Given the description of an element on the screen output the (x, y) to click on. 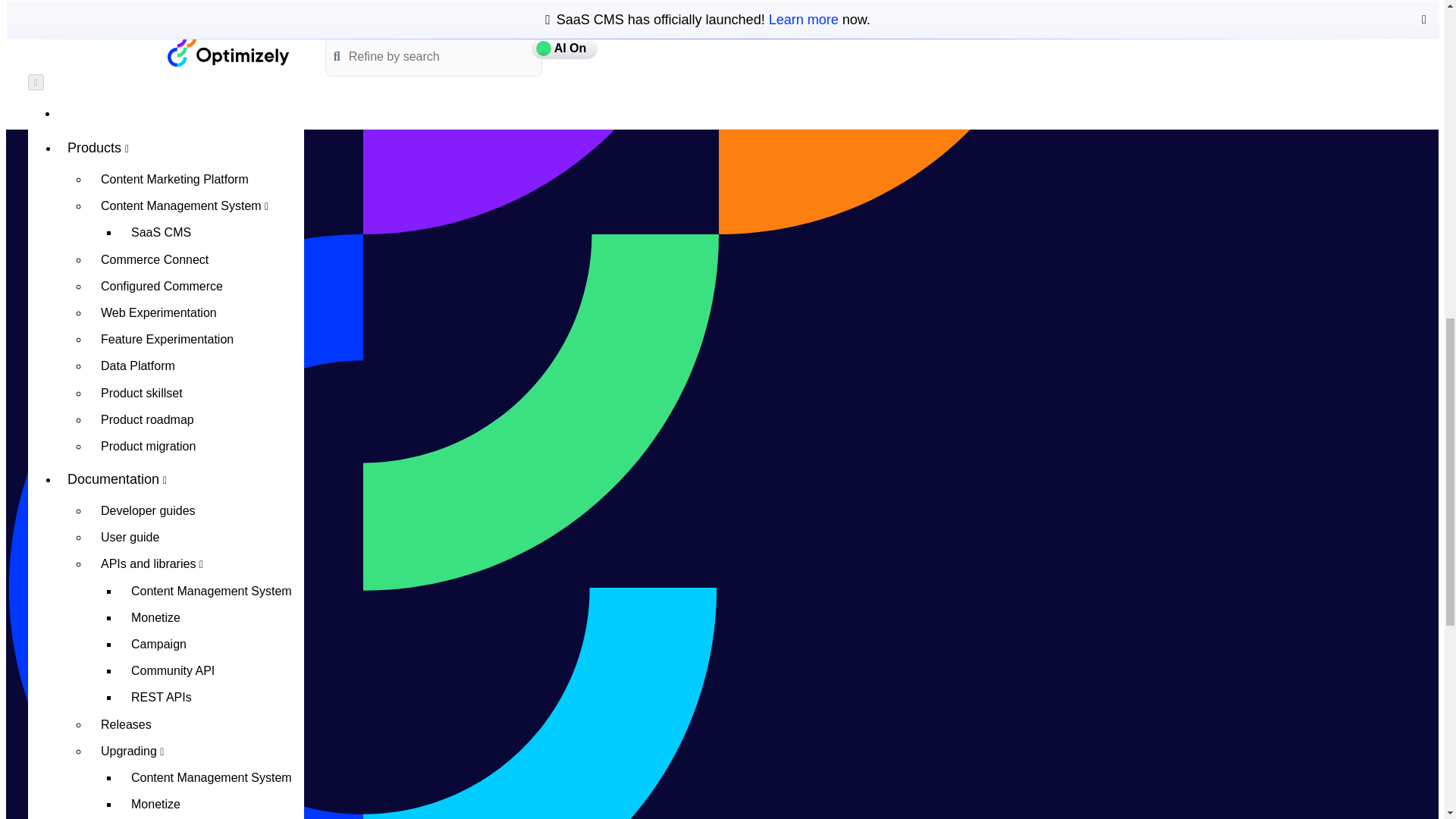
Forms (211, 46)
OMVPs (181, 132)
Service API (211, 99)
OMVP members (196, 243)
Monetize (211, 2)
Digital badges (196, 297)
OMVP events (196, 216)
Application and nomination (196, 270)
Become a member (196, 163)
Benefits (196, 190)
Personalization (211, 72)
